Given the description of an element on the screen output the (x, y) to click on. 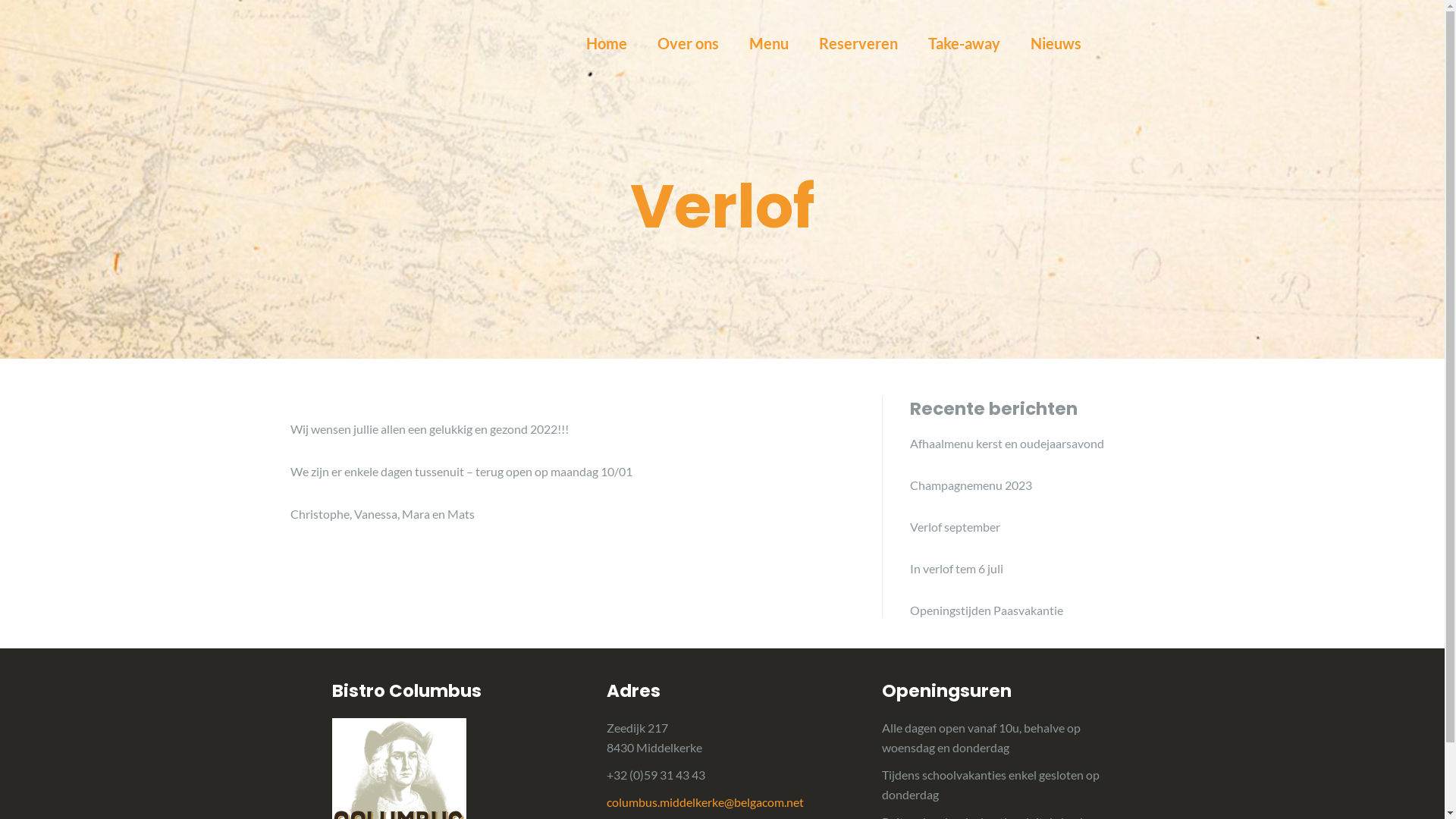
columbus.middelkerke@belgacom.net Element type: text (704, 801)
Verlof september Element type: text (1018, 526)
Openingstijden Paasvakantie Element type: text (1018, 610)
Menu Element type: text (768, 43)
Over ons Element type: text (687, 43)
Reserveren Element type: text (858, 43)
Nieuws Element type: text (1054, 43)
In verlof tem 6 juli Element type: text (1018, 568)
Home Element type: text (605, 43)
Afhaalmenu kerst en oudejaarsavond Element type: text (1018, 443)
Champagnemenu 2023 Element type: text (1018, 484)
Take-away Element type: text (964, 43)
